Given the description of an element on the screen output the (x, y) to click on. 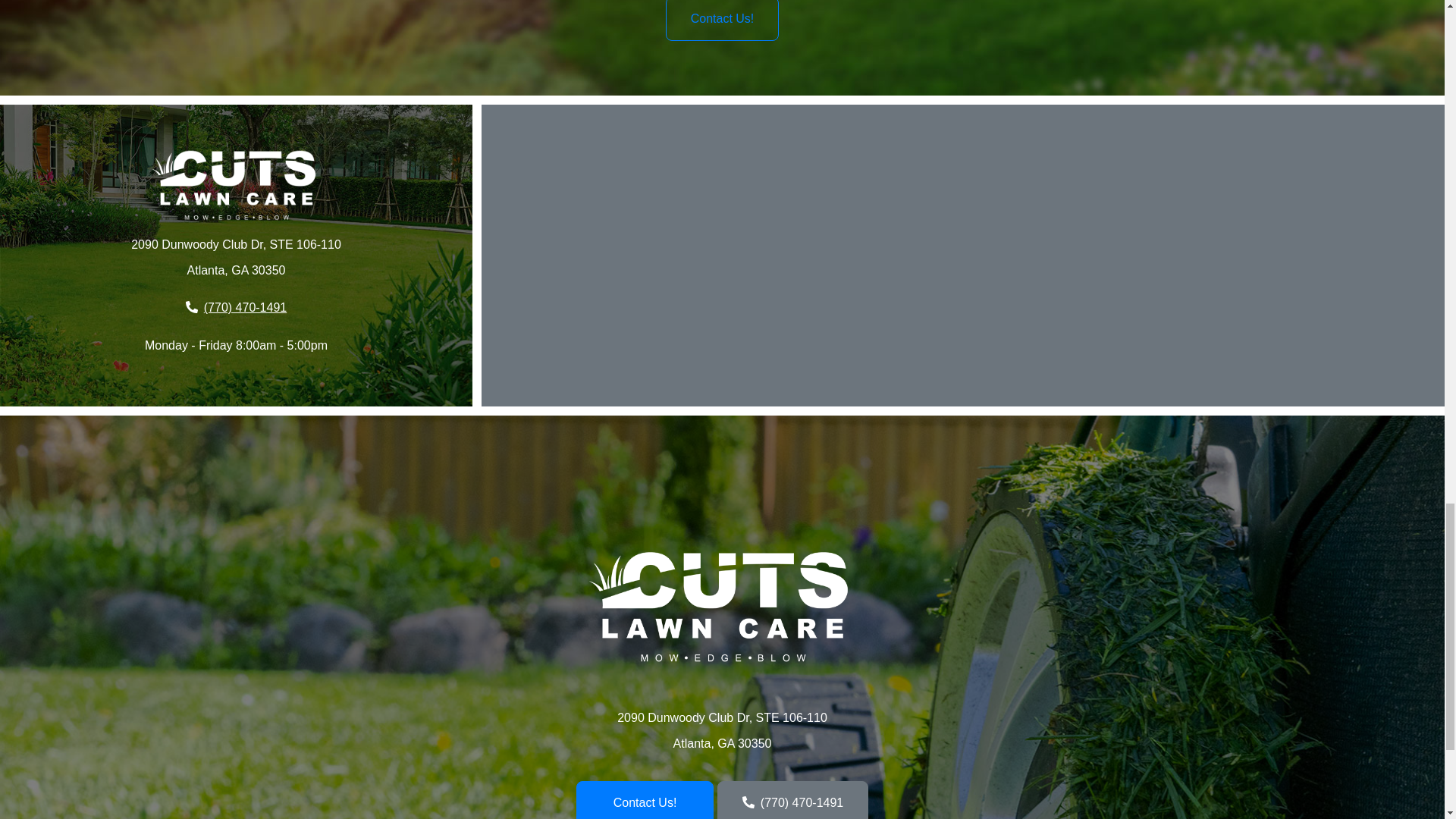
Skip footer nav (746, 535)
Contact Us! (721, 20)
Contact Us! (645, 800)
